Given the description of an element on the screen output the (x, y) to click on. 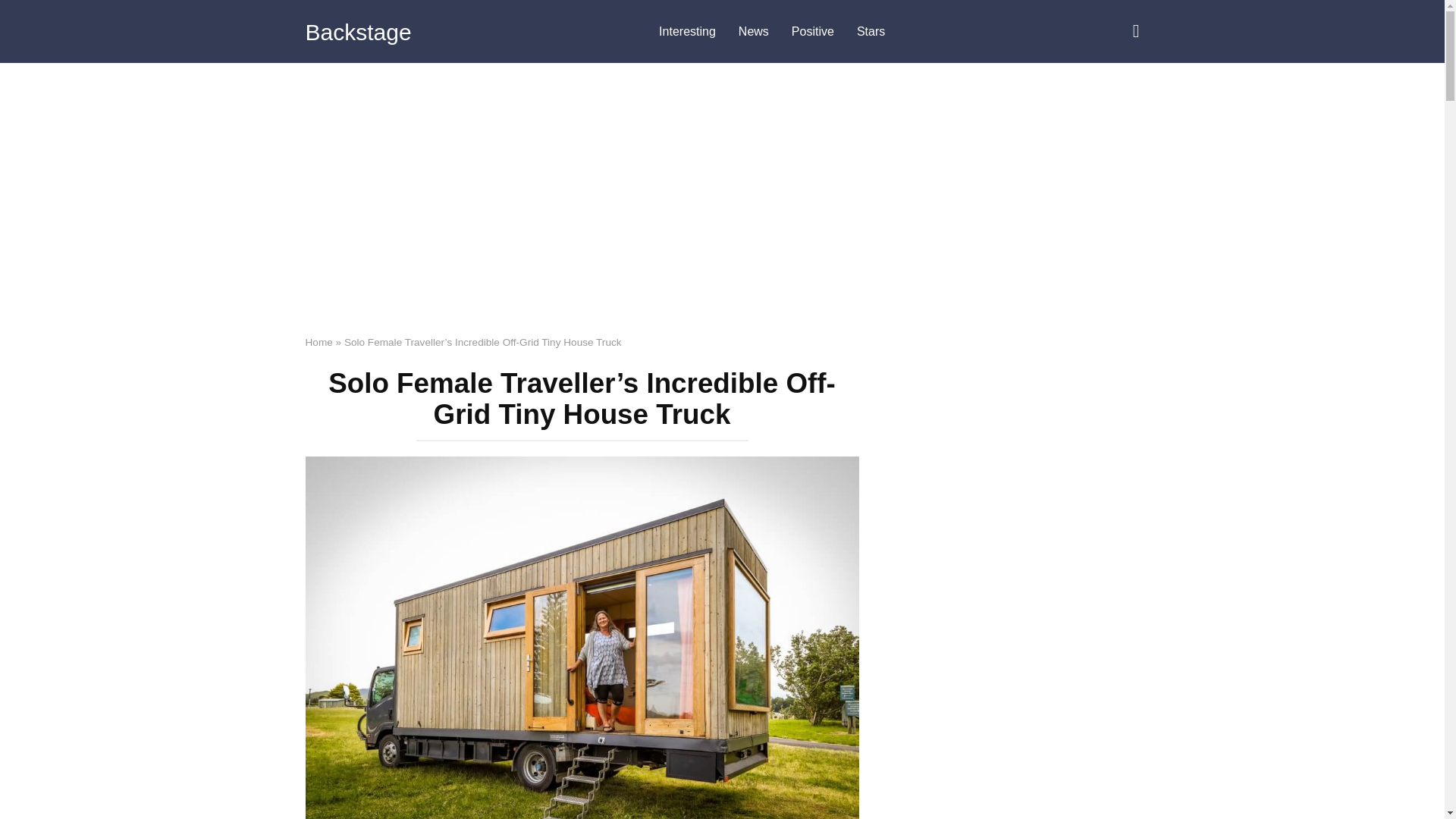
Backstage (357, 32)
Stars (870, 31)
Home (317, 342)
News (753, 31)
Interesting (686, 31)
Positive (812, 31)
